Given the description of an element on the screen output the (x, y) to click on. 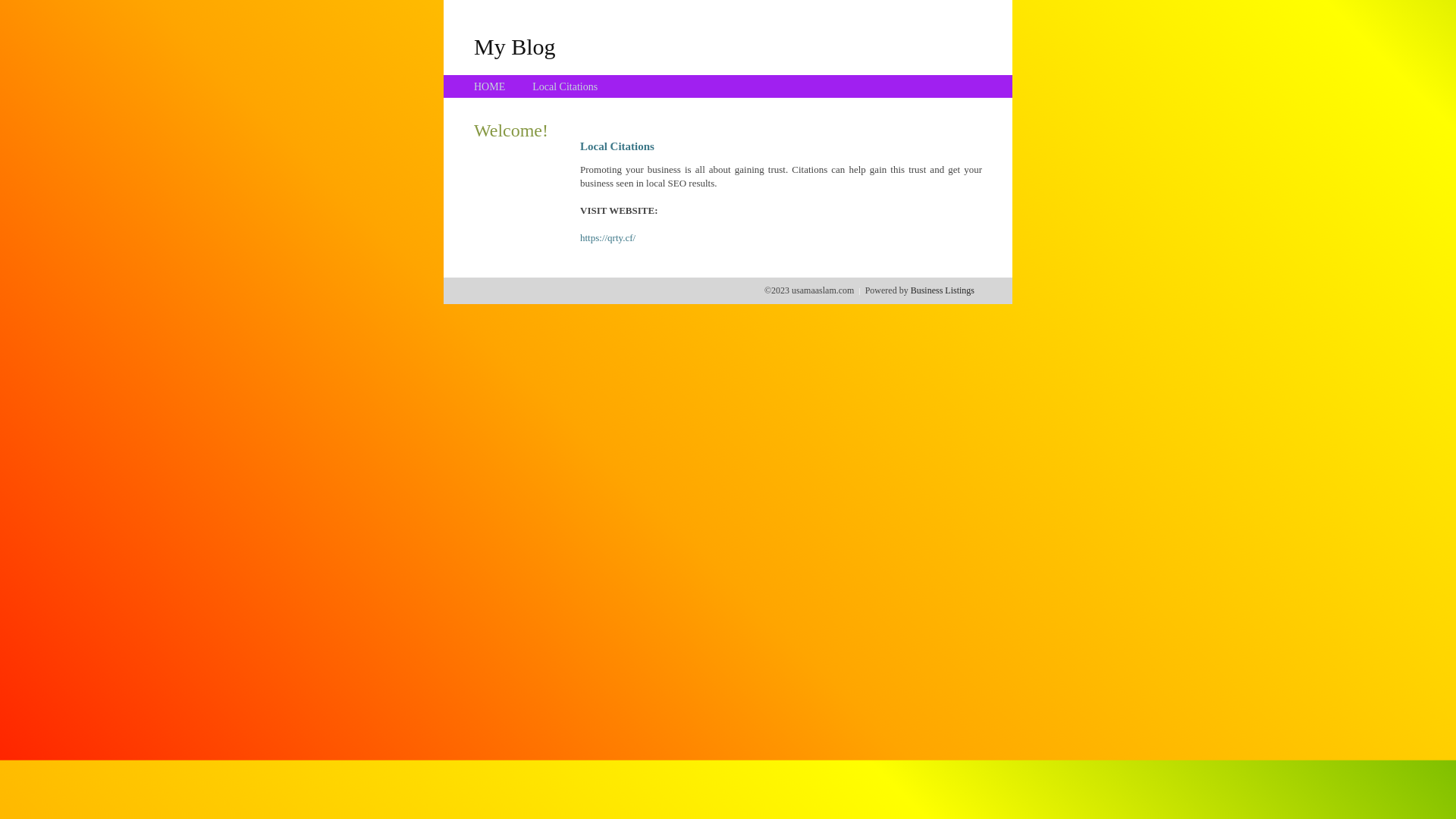
Local Citations Element type: text (564, 86)
HOME Element type: text (489, 86)
My Blog Element type: text (514, 46)
Business Listings Element type: text (942, 290)
https://qrty.cf/ Element type: text (607, 237)
